Given the description of an element on the screen output the (x, y) to click on. 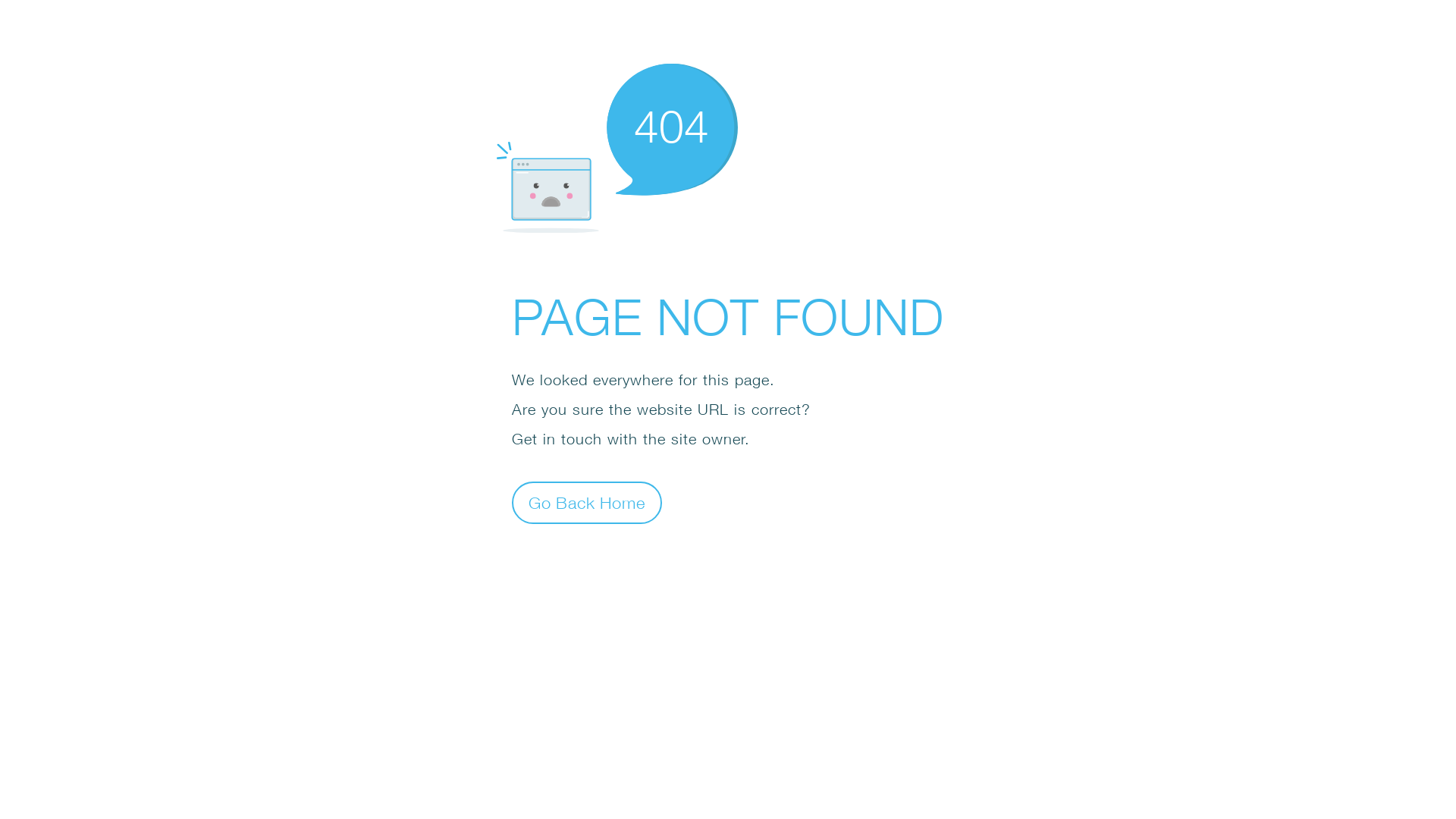
Go Back Home Element type: text (586, 502)
